Given the description of an element on the screen output the (x, y) to click on. 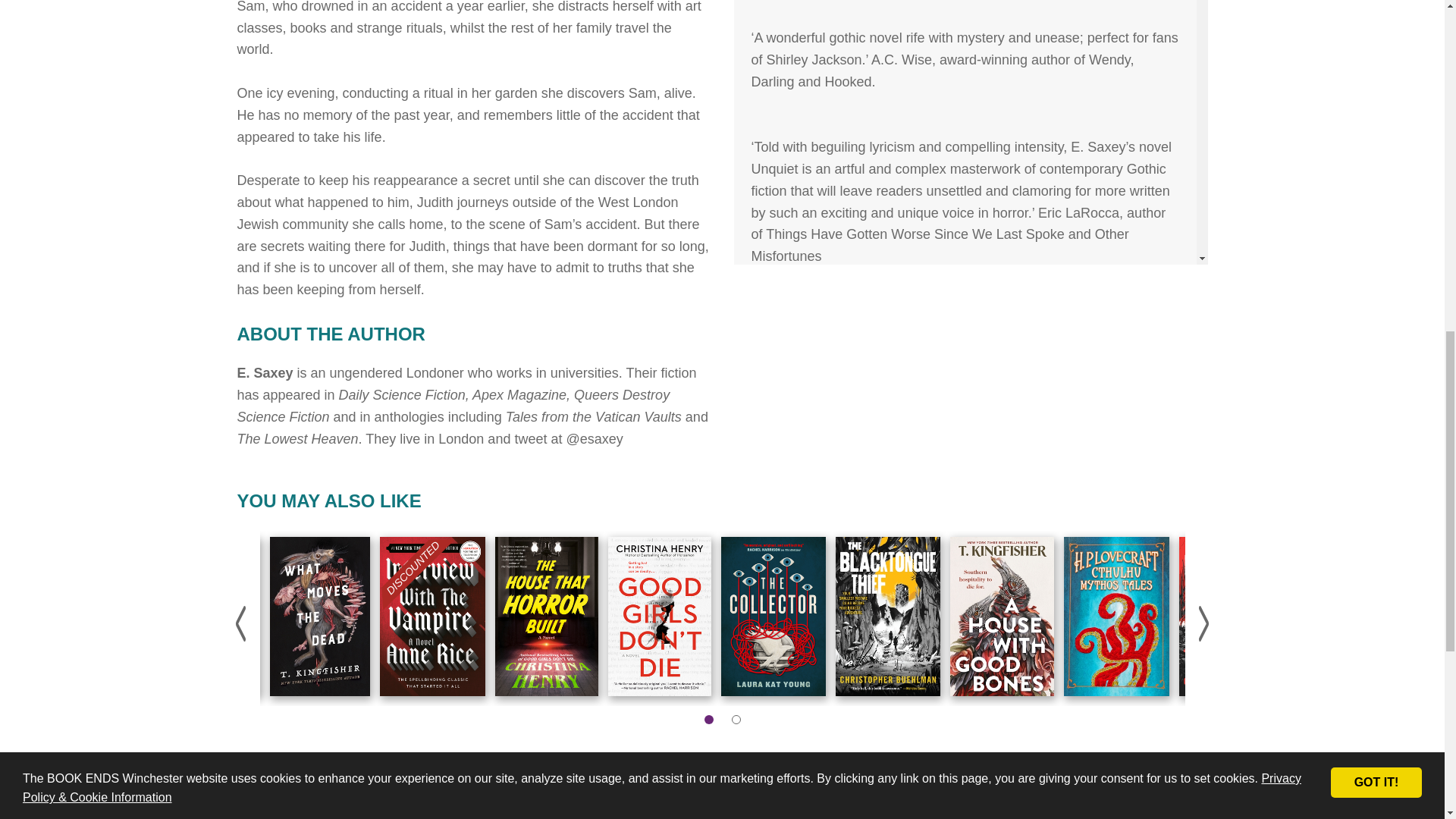
GOT IT! (1376, 59)
